Given the description of an element on the screen output the (x, y) to click on. 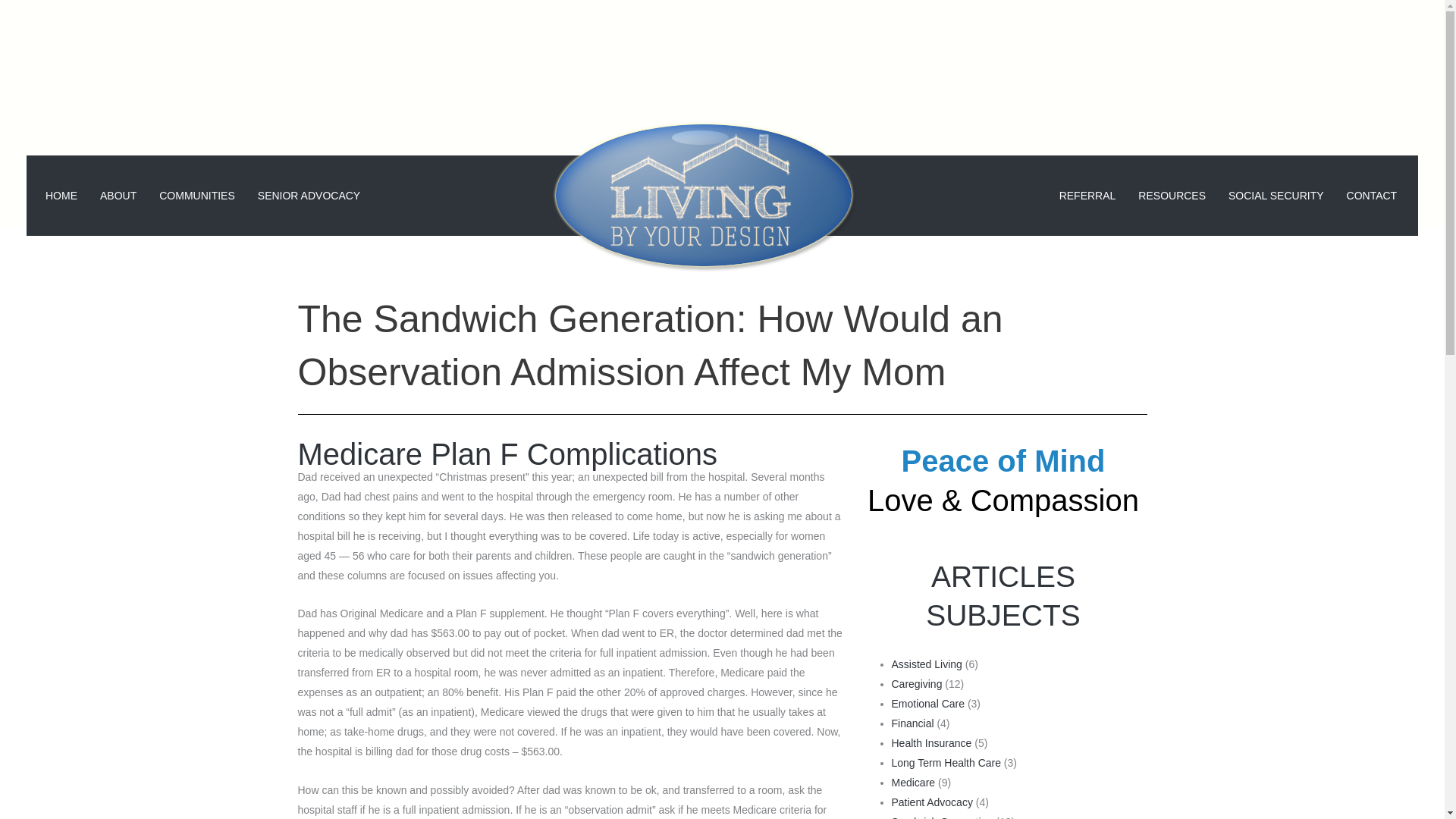
RESOURCES (1171, 194)
SOCIAL SECURITY (1276, 194)
REFERRAL (1087, 194)
CONTACT (1372, 194)
Emotional Care (928, 703)
COMMUNITIES (197, 194)
SENIOR ADVOCACY (308, 194)
ABOUT (118, 194)
Patient Advocacy (931, 802)
Caregiving (916, 684)
Medicare (913, 782)
Financial (912, 723)
Assisted Living (926, 664)
Health Insurance (931, 743)
Envelope (1399, 140)
